Given the description of an element on the screen output the (x, y) to click on. 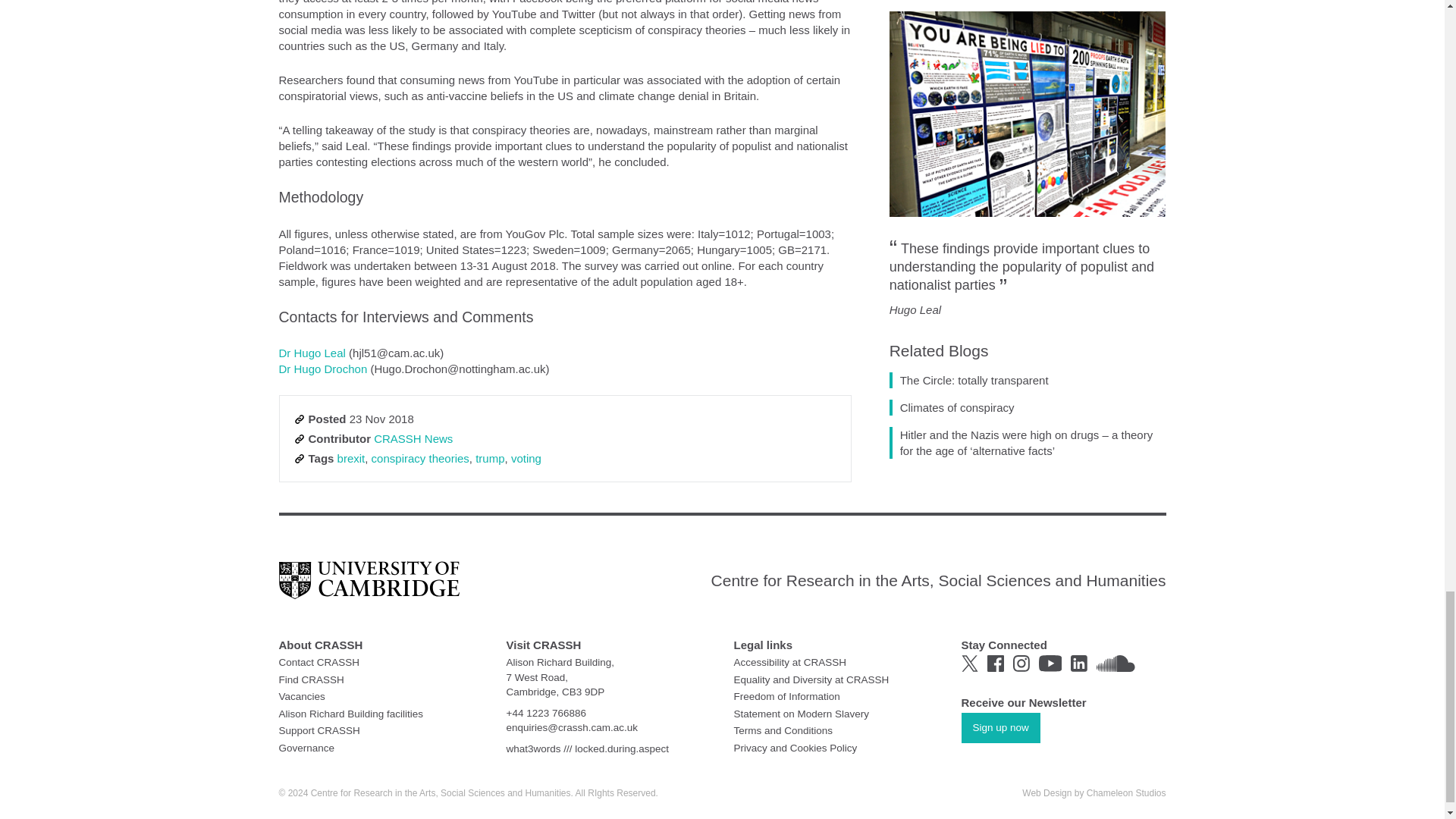
Dr Hugo Leal (312, 352)
CRASSH News (413, 438)
Dr Hugo Drochon (323, 368)
brexit (351, 458)
